Given the description of an element on the screen output the (x, y) to click on. 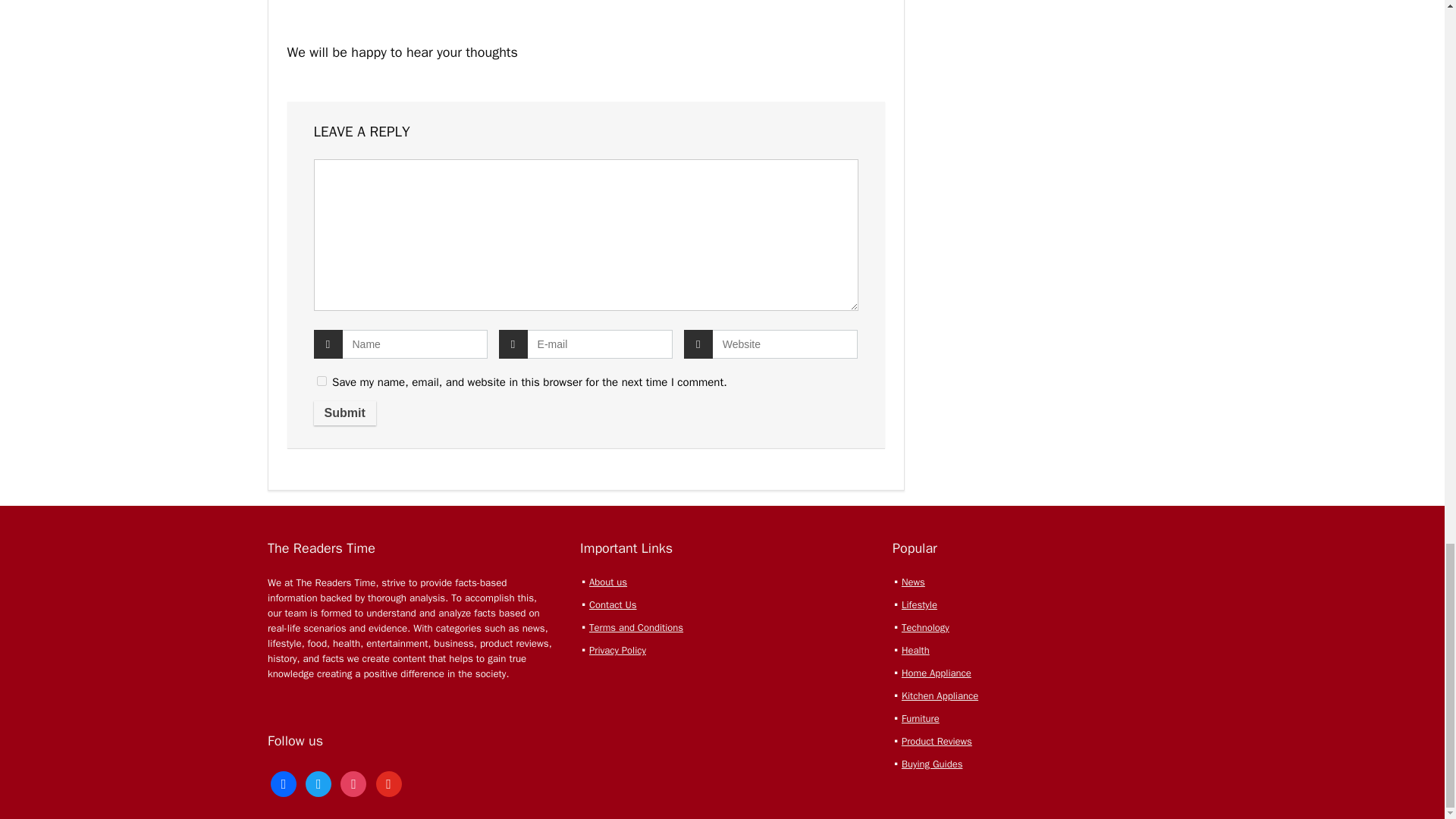
X (318, 782)
Instagram (353, 782)
Submit (344, 413)
Facebook (283, 782)
yes (321, 380)
